Given the description of an element on the screen output the (x, y) to click on. 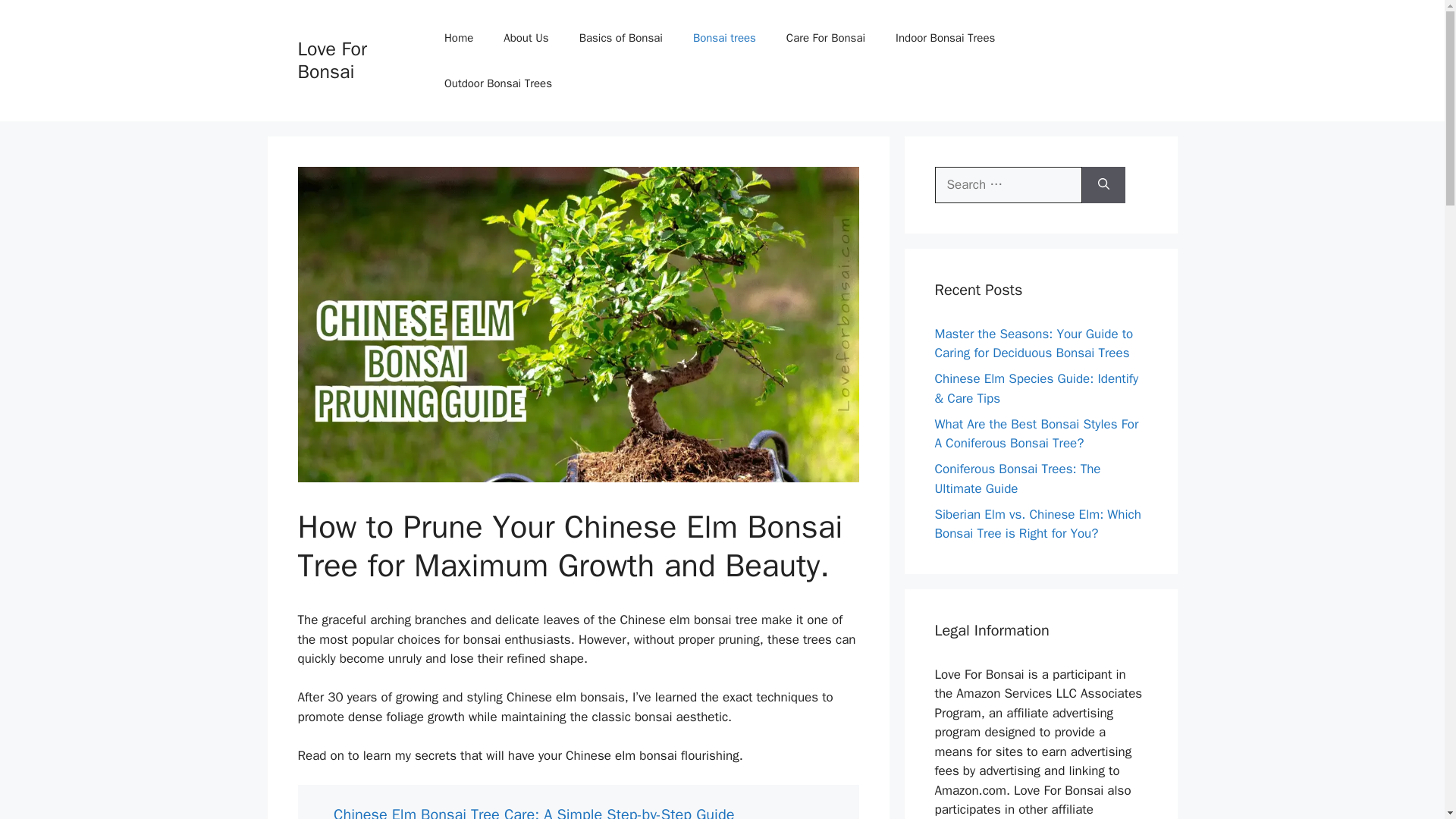
Basics of Bonsai (621, 37)
Home (458, 37)
Love For Bonsai (331, 59)
Care For Bonsai (825, 37)
About Us (525, 37)
Bonsai trees (724, 37)
Search for: (1007, 185)
Outdoor Bonsai Trees (498, 83)
Coniferous Bonsai Trees: The Ultimate Guide (1017, 478)
Indoor Bonsai Trees (945, 37)
Chinese Elm Bonsai Tree Care: A Simple Step-by-Step Guide (533, 812)
